Given the description of an element on the screen output the (x, y) to click on. 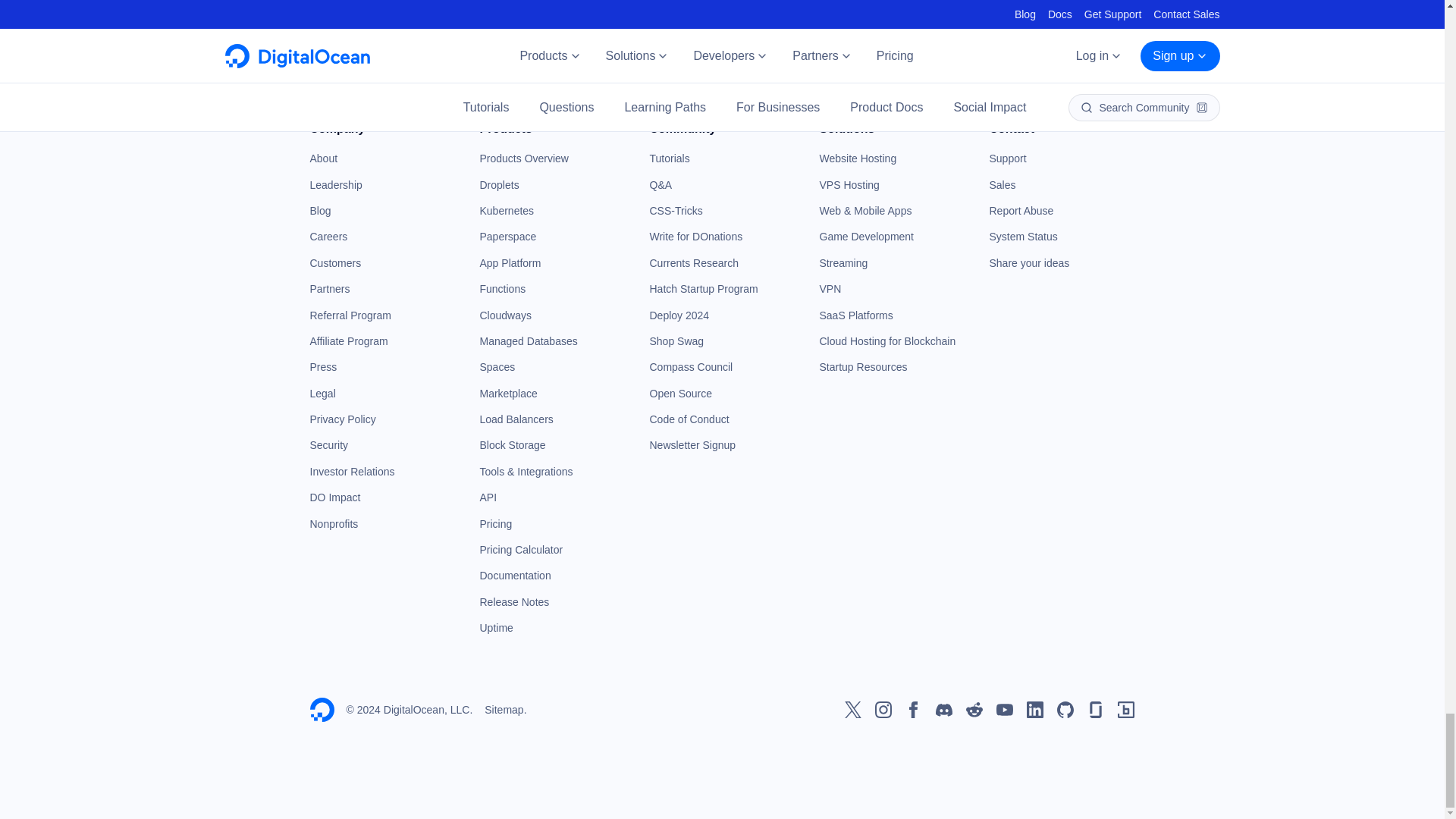
YouTube (1003, 710)
Instagram (882, 710)
Reddit (972, 710)
Discord (943, 710)
Facebook (912, 710)
